Given the description of an element on the screen output the (x, y) to click on. 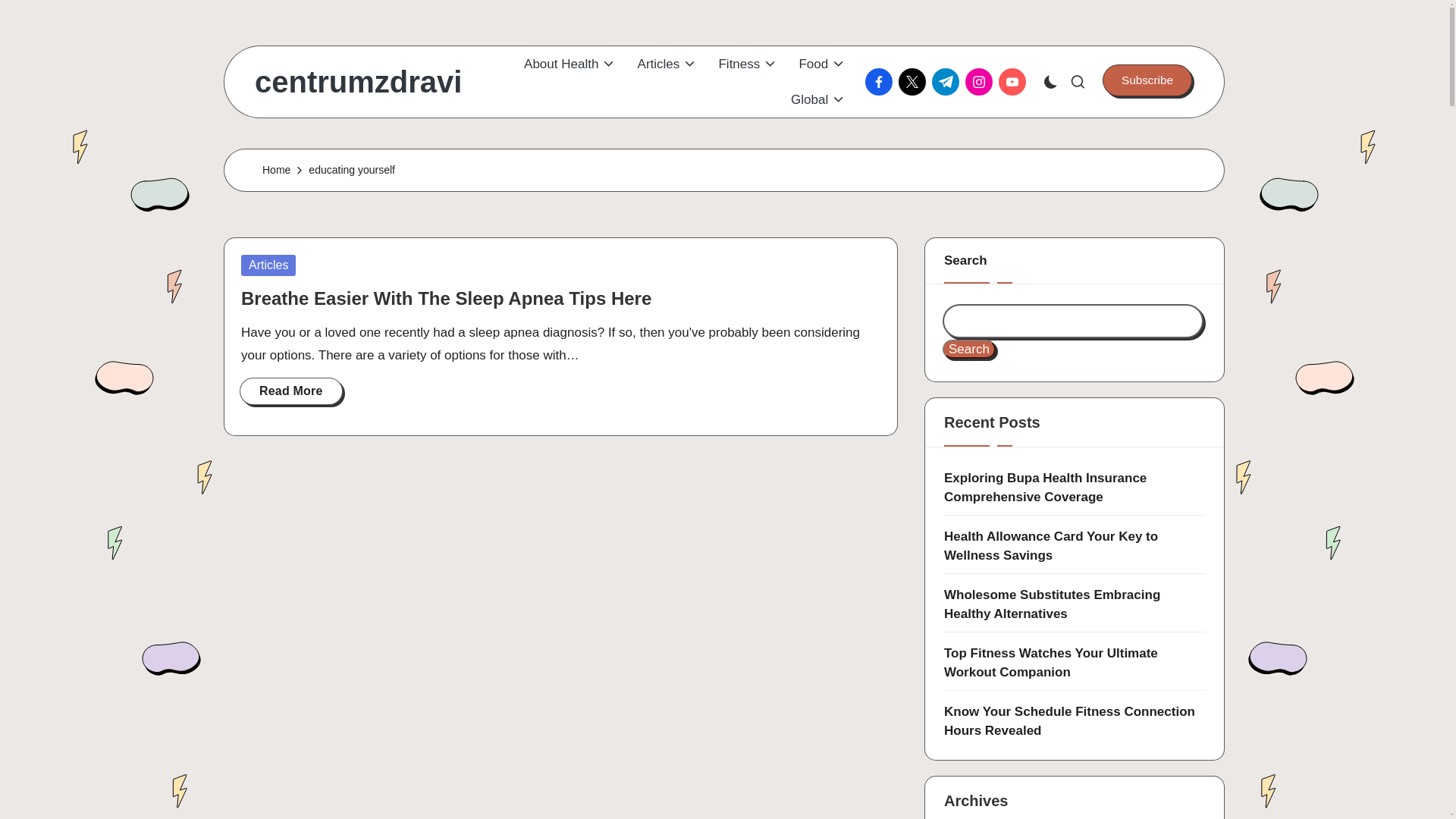
About Health (569, 63)
centrumzdravi (357, 81)
Articles (667, 63)
Breathe Easier With The Sleep Apnea Tips Here (445, 298)
